Given the description of an element on the screen output the (x, y) to click on. 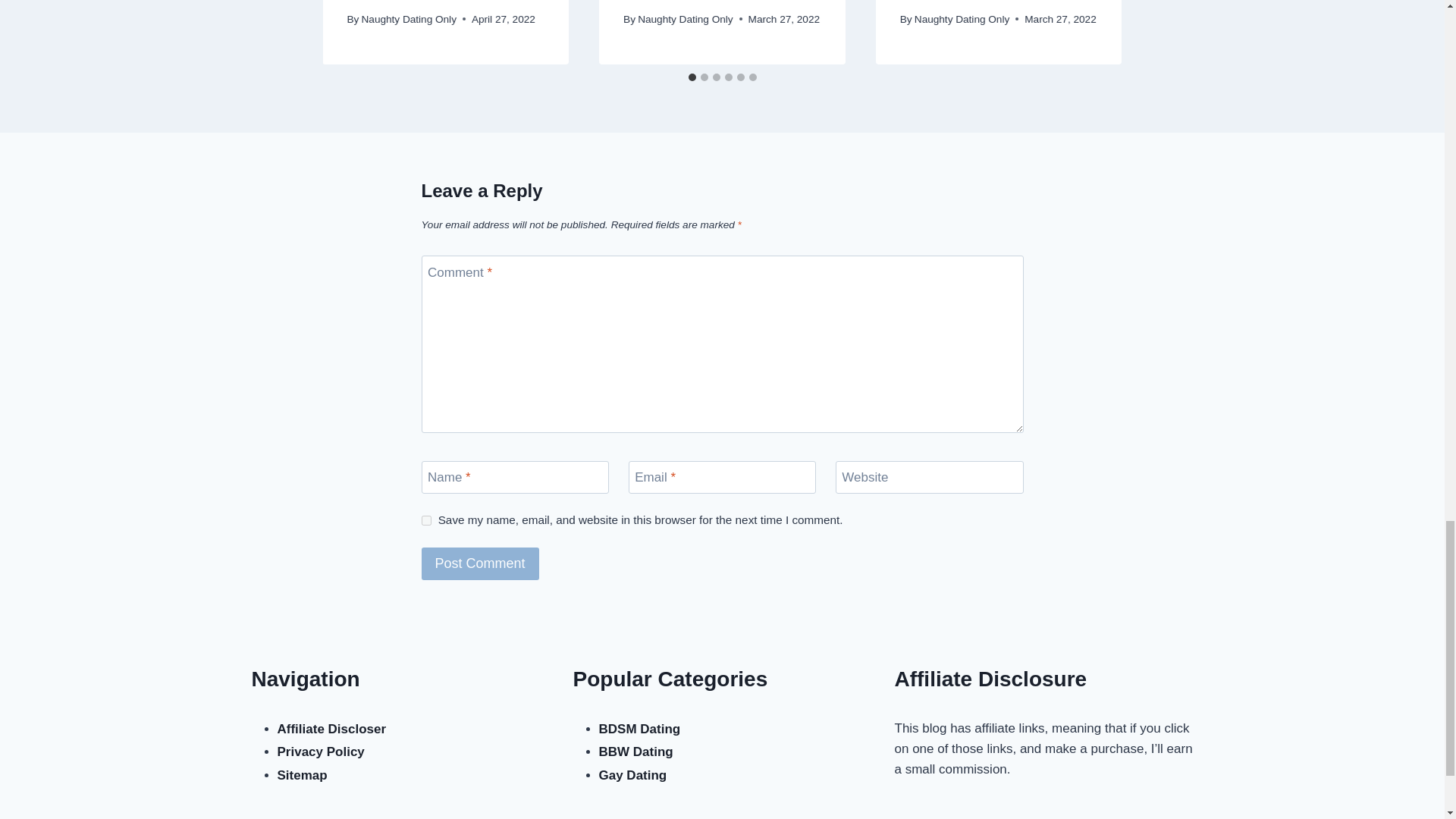
yes (426, 520)
Post Comment (480, 563)
